Given the description of an element on the screen output the (x, y) to click on. 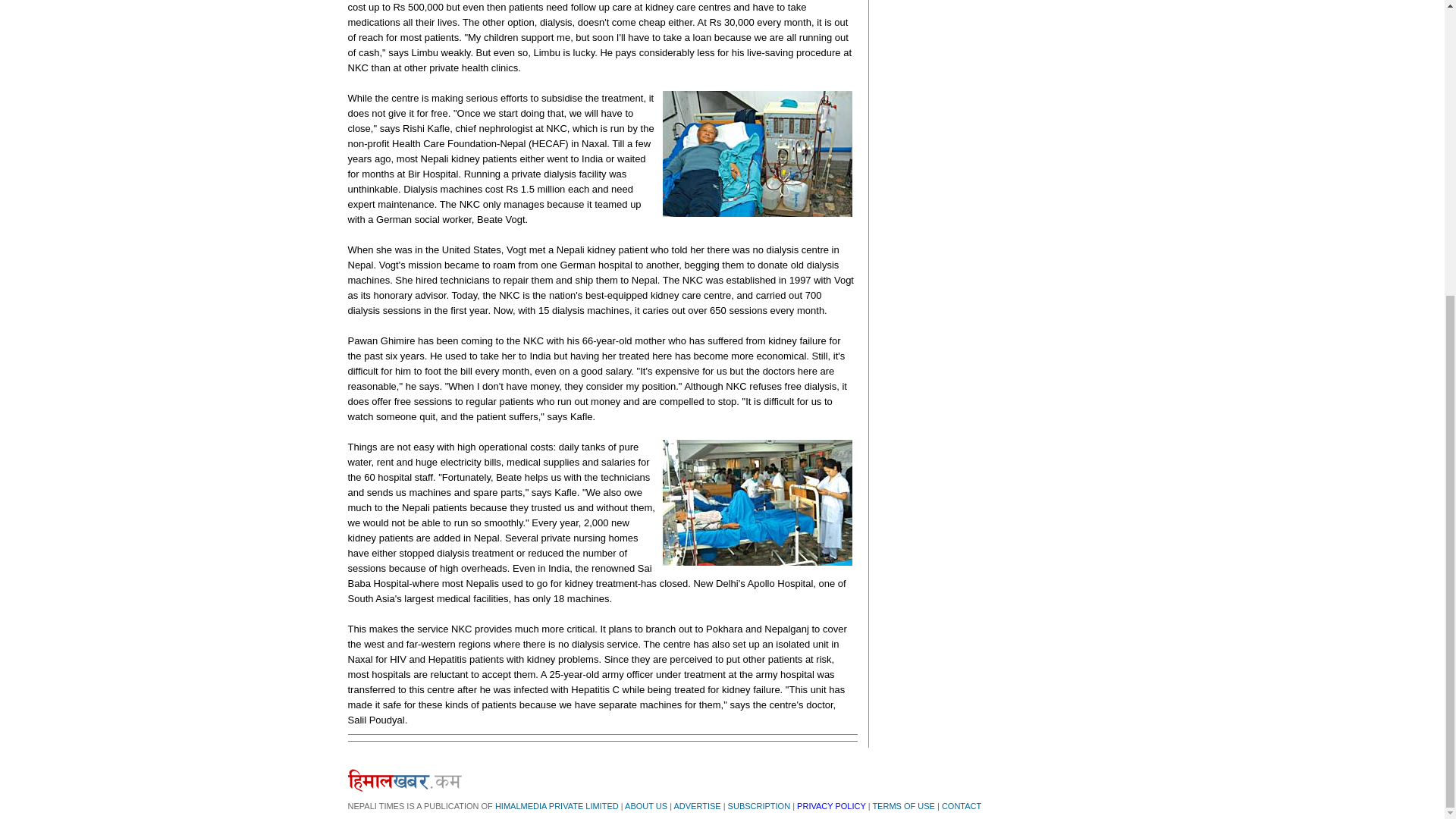
TERMS OF USE (903, 805)
CONTACT (961, 805)
PRIVACY POLICY (830, 805)
himalkhabar.com (404, 780)
SUBSCRIPTION (759, 805)
HIMALMEDIA PRIVATE LIMITED (556, 805)
ABOUT US (645, 805)
ADVERTISE (696, 805)
